Given the description of an element on the screen output the (x, y) to click on. 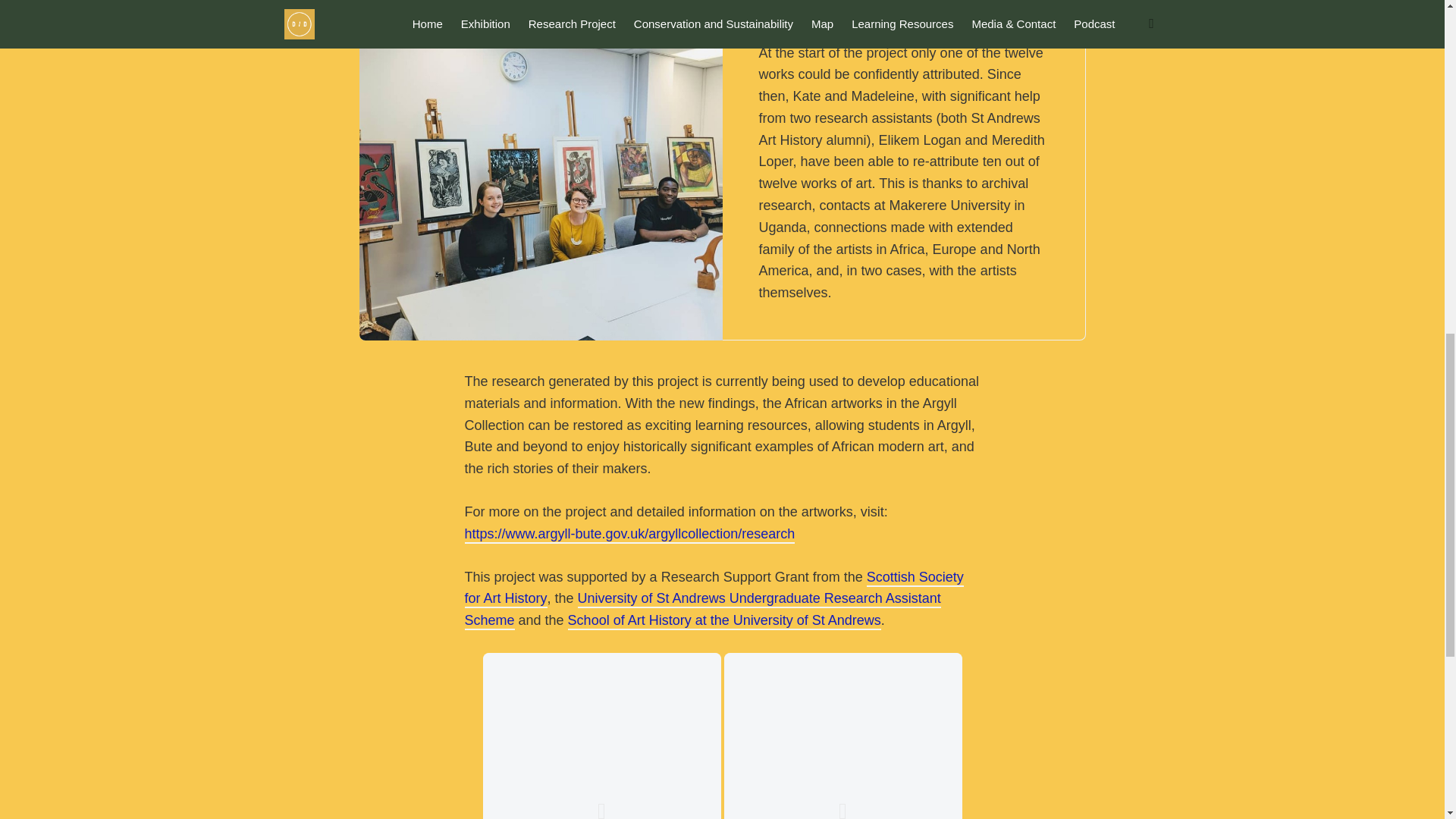
Scottish Society for Art History (713, 589)
School of Art History at the University of St Andrews (723, 620)
